Given the description of an element on the screen output the (x, y) to click on. 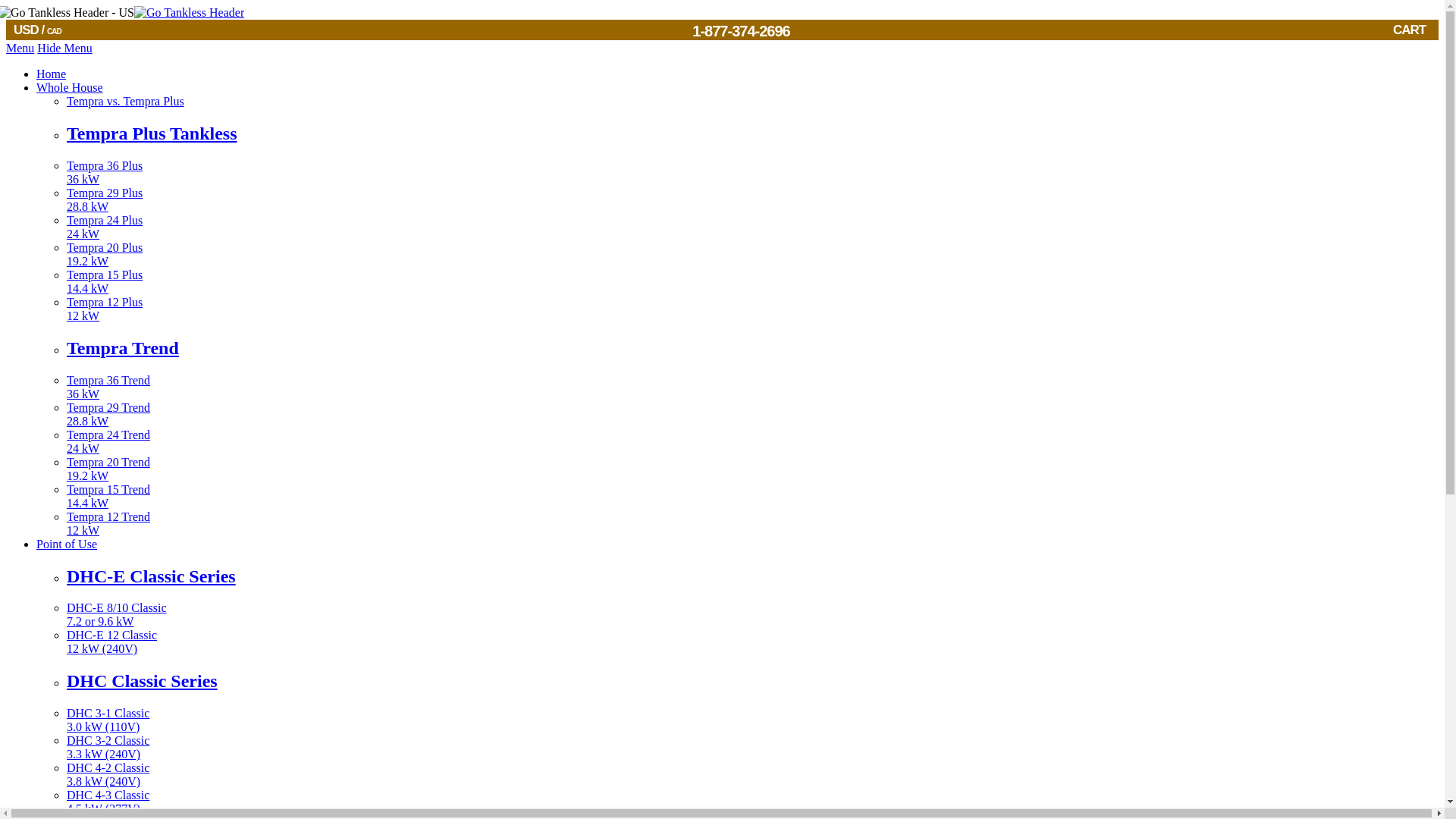
DHC-E Classic Series (752, 576)
Point of Use (752, 414)
Tempra Plus Tankless (752, 254)
DHC Classic Series (66, 543)
1-877-374-2696 (752, 133)
